Given the description of an element on the screen output the (x, y) to click on. 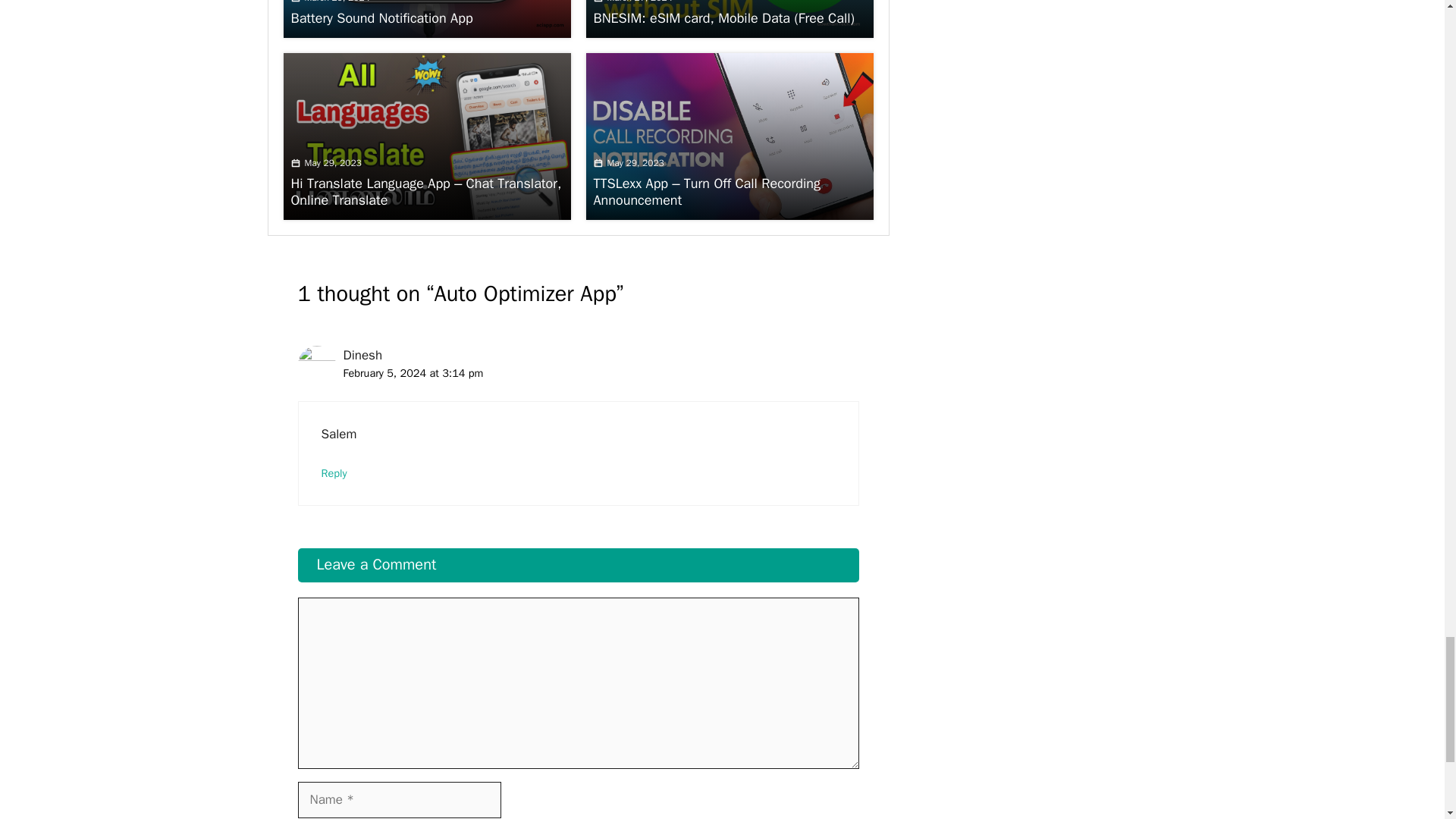
February 5, 2024 at 3:14 pm (412, 373)
Reply (334, 472)
Battery Sound Notification App (382, 17)
